Given the description of an element on the screen output the (x, y) to click on. 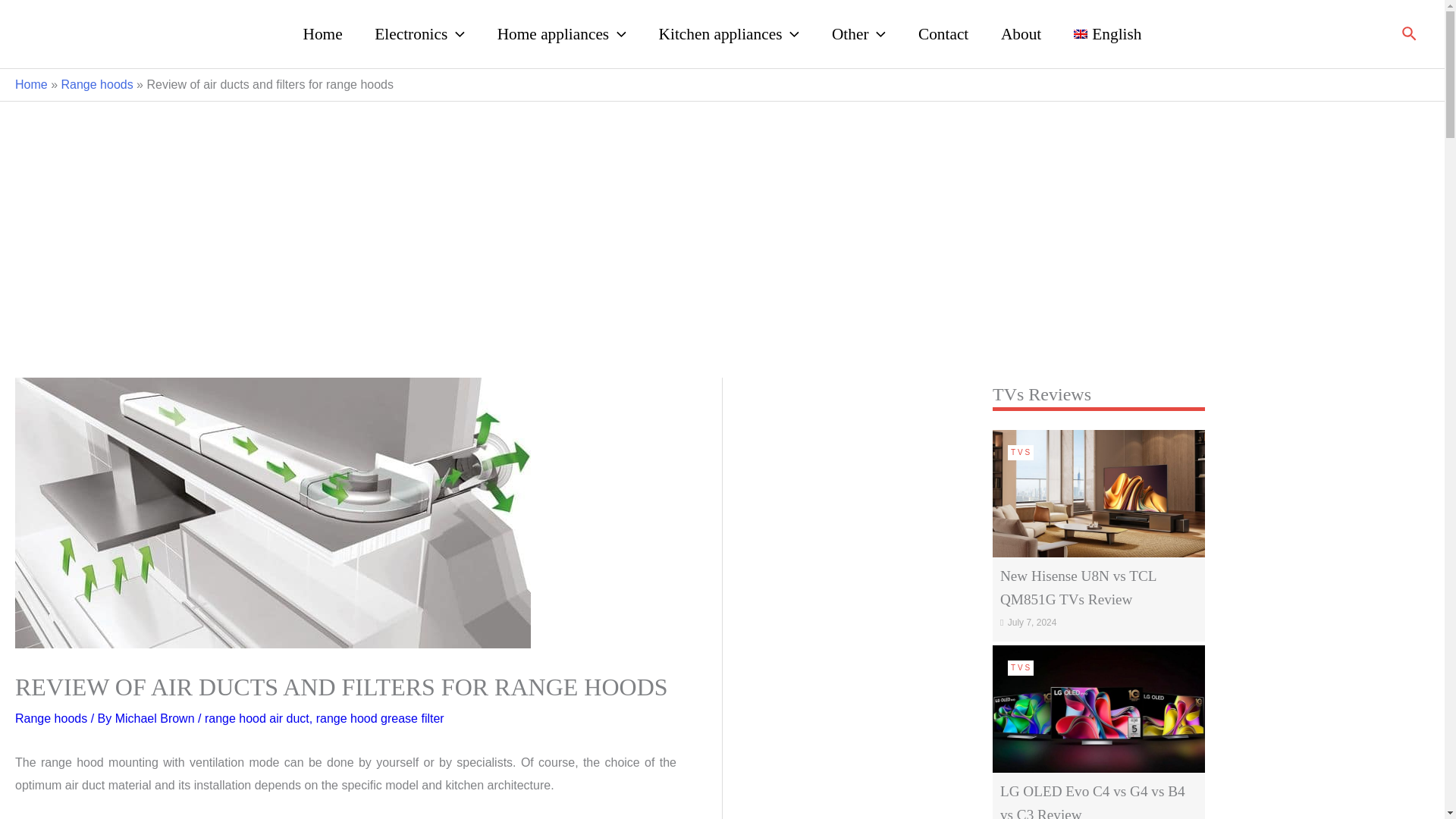
Home (322, 33)
English (1107, 33)
Kitchen appliances (728, 33)
Home appliances (561, 33)
View all posts by Michael Brown (156, 717)
Electronics (419, 33)
